Given the description of an element on the screen output the (x, y) to click on. 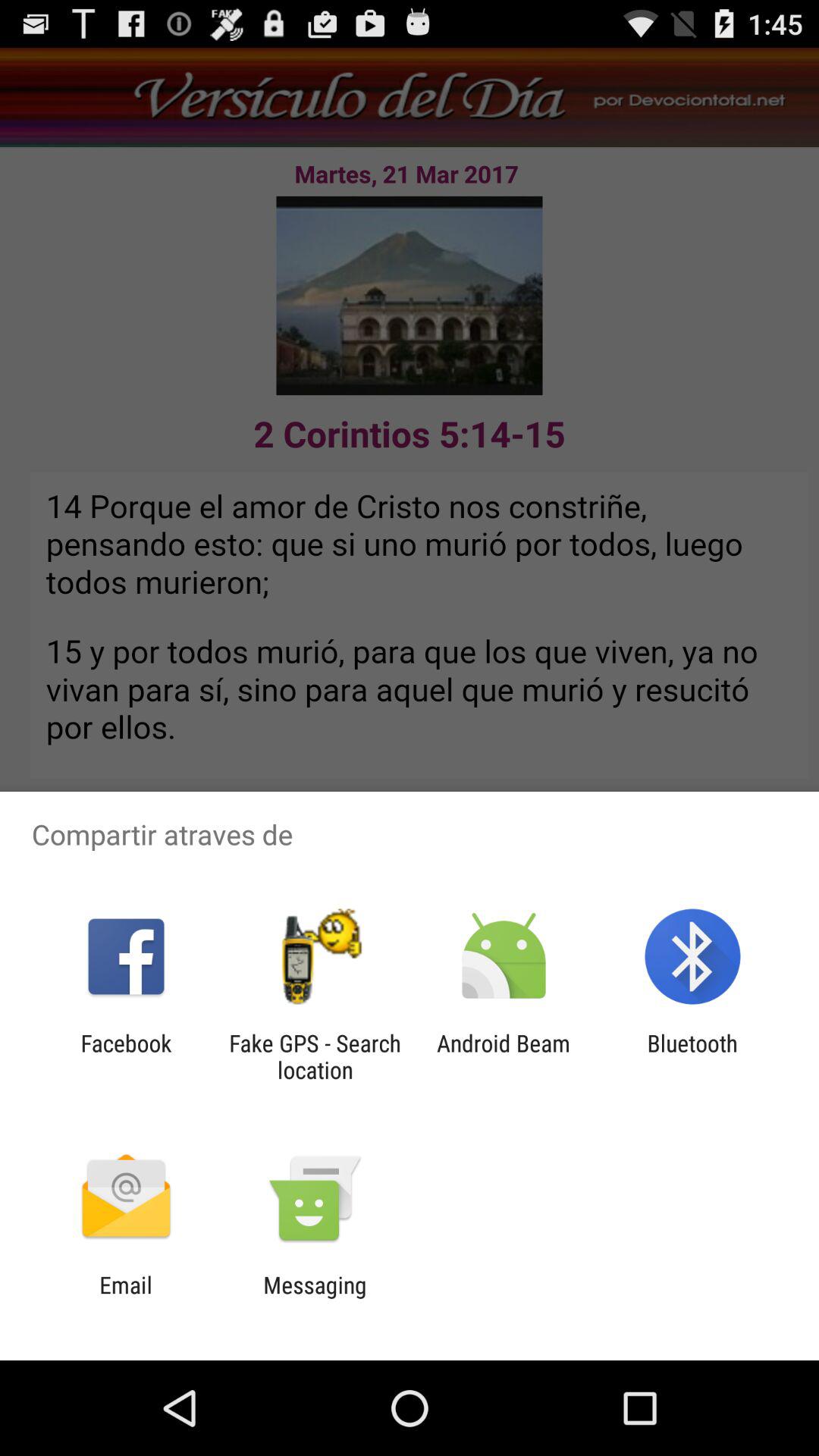
press app next to android beam icon (314, 1056)
